Given the description of an element on the screen output the (x, y) to click on. 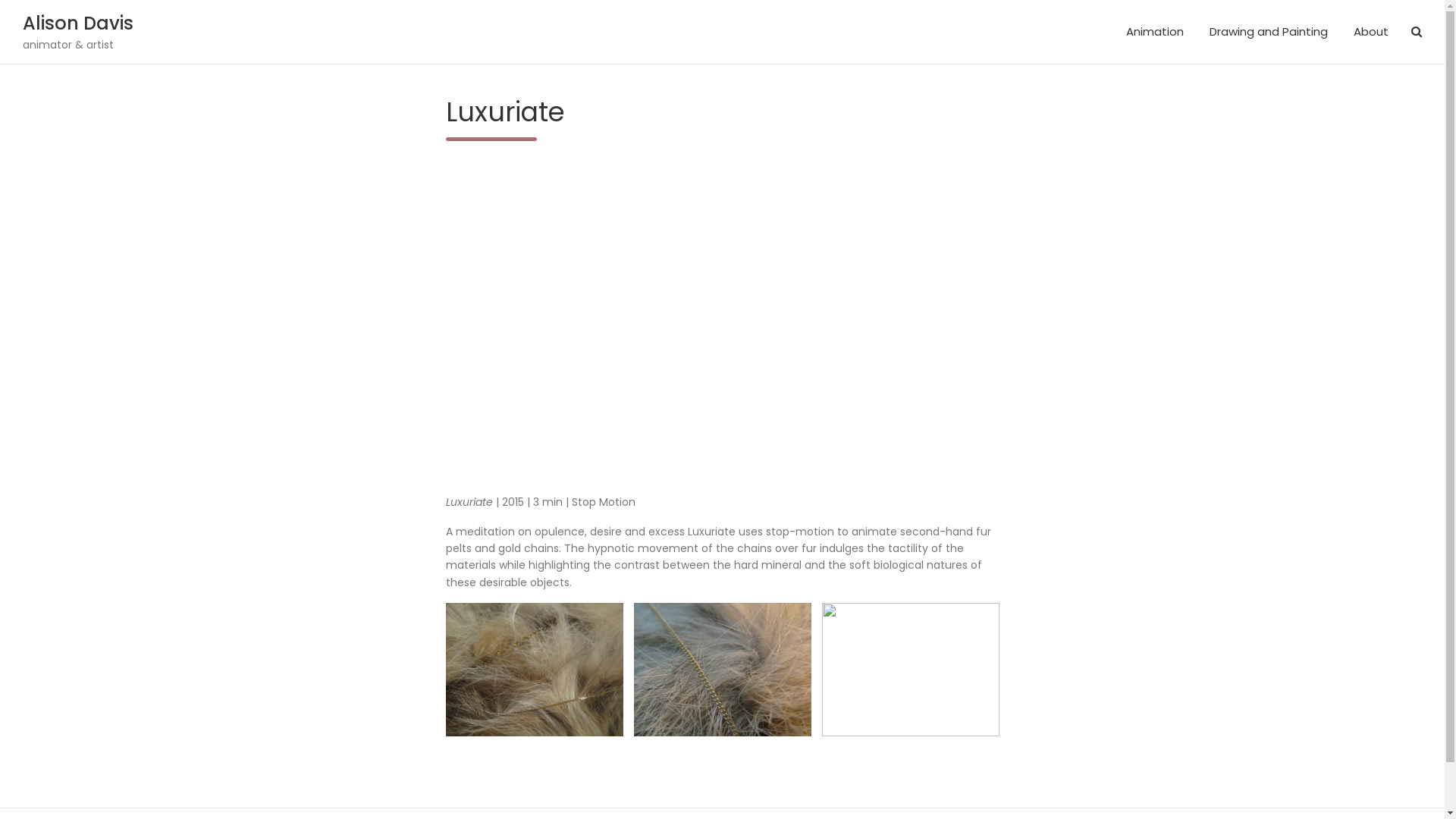
About Element type: text (1370, 31)
Drawing and Painting Element type: text (1268, 31)
Animation Element type: text (1154, 31)
Alison Davis Element type: text (77, 22)
Luxuriate Element type: hover (722, 314)
